Given the description of an element on the screen output the (x, y) to click on. 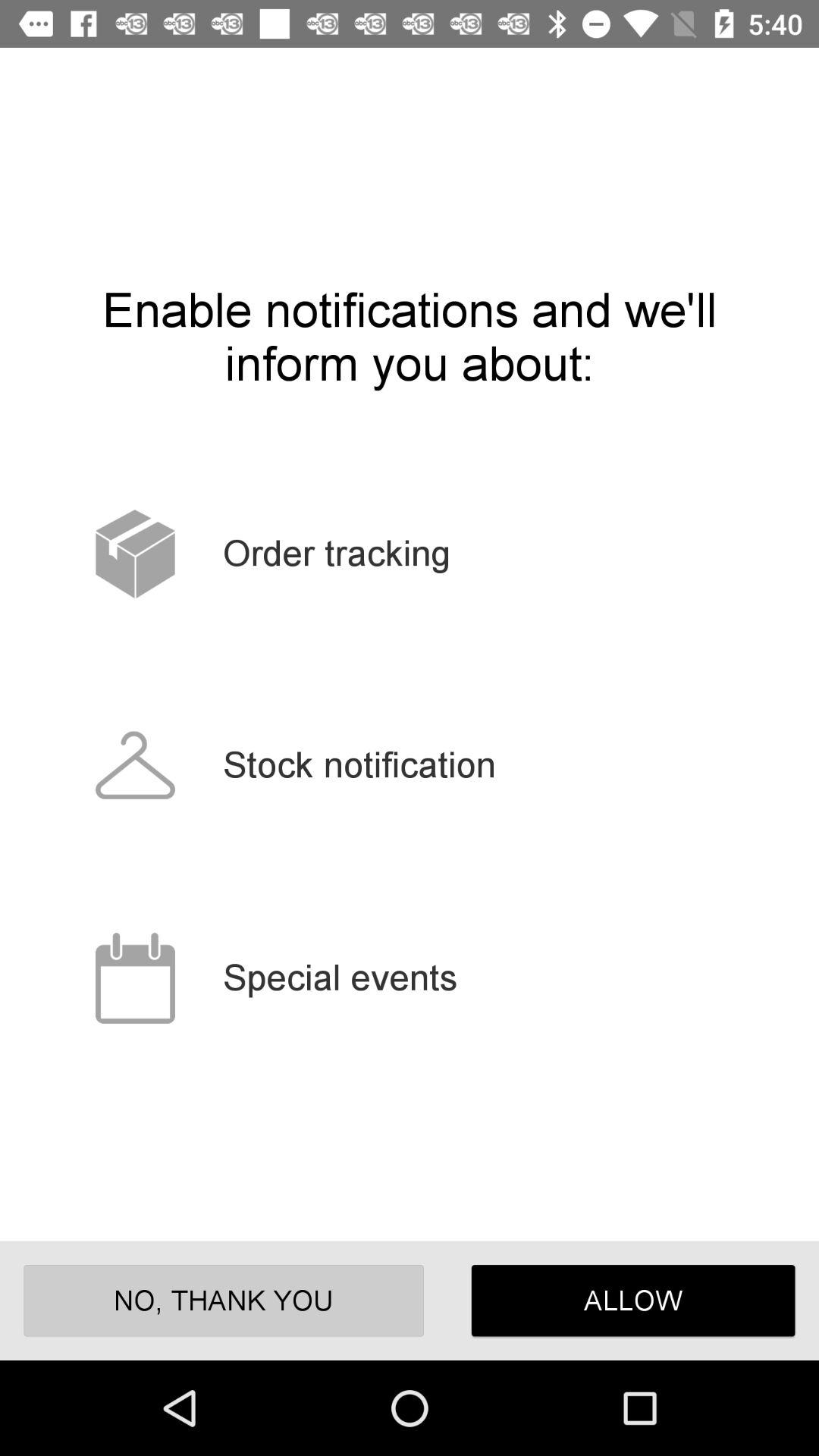
open icon to the right of the no, thank you icon (633, 1300)
